Given the description of an element on the screen output the (x, y) to click on. 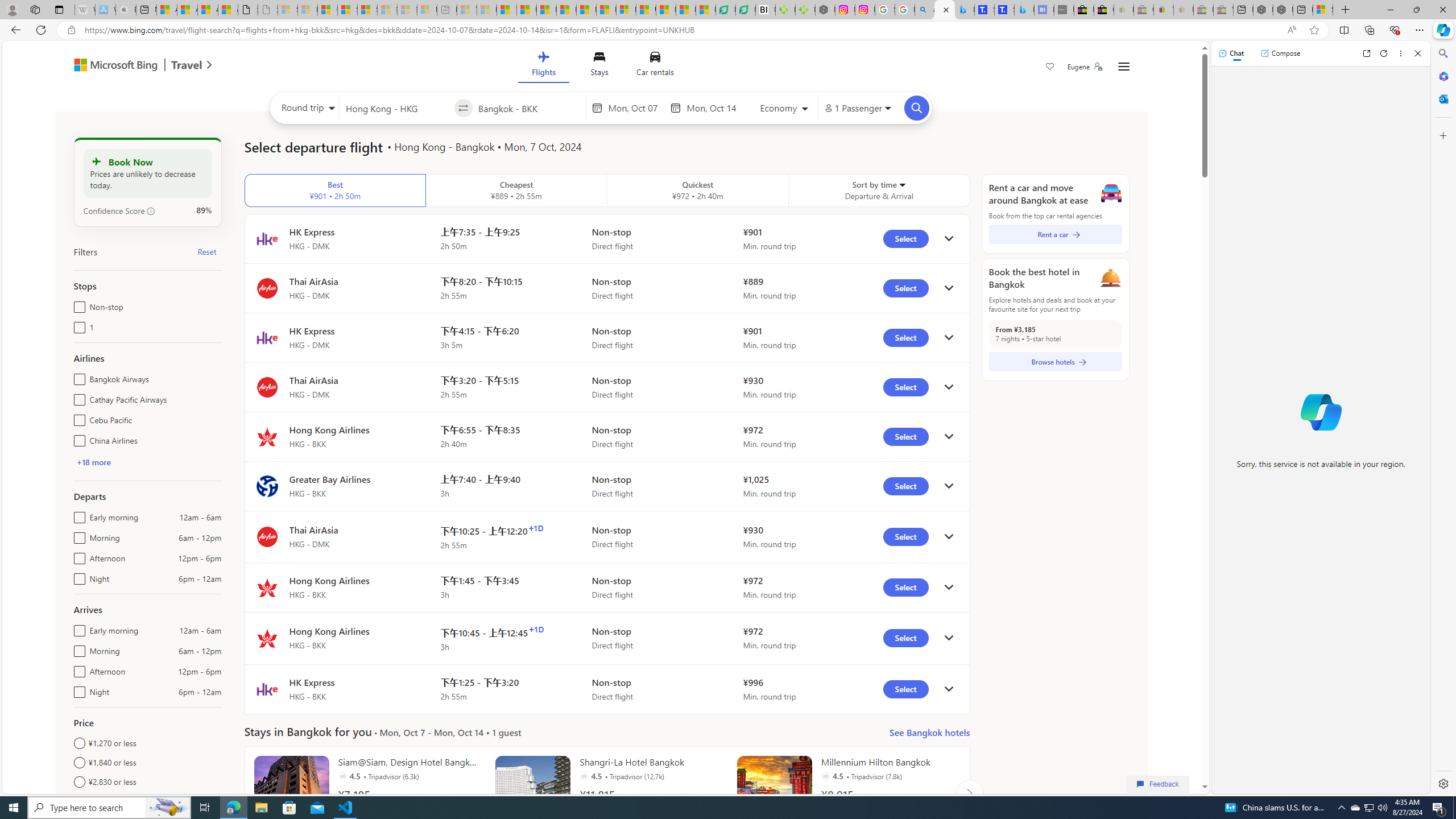
Stays (598, 65)
Going to? (528, 107)
Microsoft Services Agreement - Sleeping (306, 9)
Non-stop (76, 304)
Start Date (636, 107)
Shangri-La Bangkok, Hotel reviews and Room rates (1004, 9)
Save (1049, 67)
Press Room - eBay Inc. - Sleeping (1203, 9)
